Given the description of an element on the screen output the (x, y) to click on. 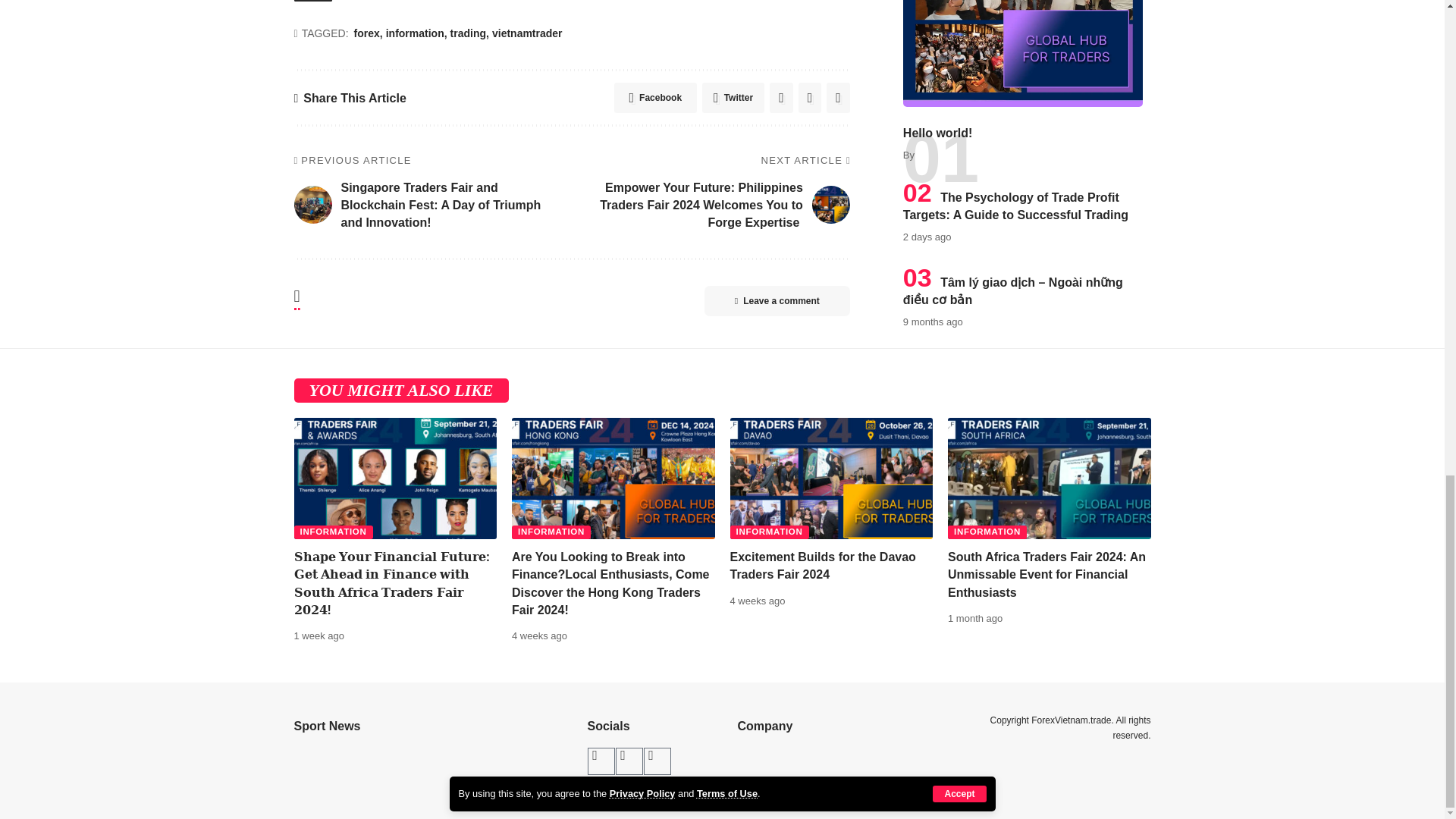
information (415, 34)
forex (367, 34)
Twitter (732, 97)
Facebook (655, 97)
trading (469, 34)
Excitement Builds for the Davao Traders Fair 2024 (831, 478)
vietnamtrader (527, 34)
